Given the description of an element on the screen output the (x, y) to click on. 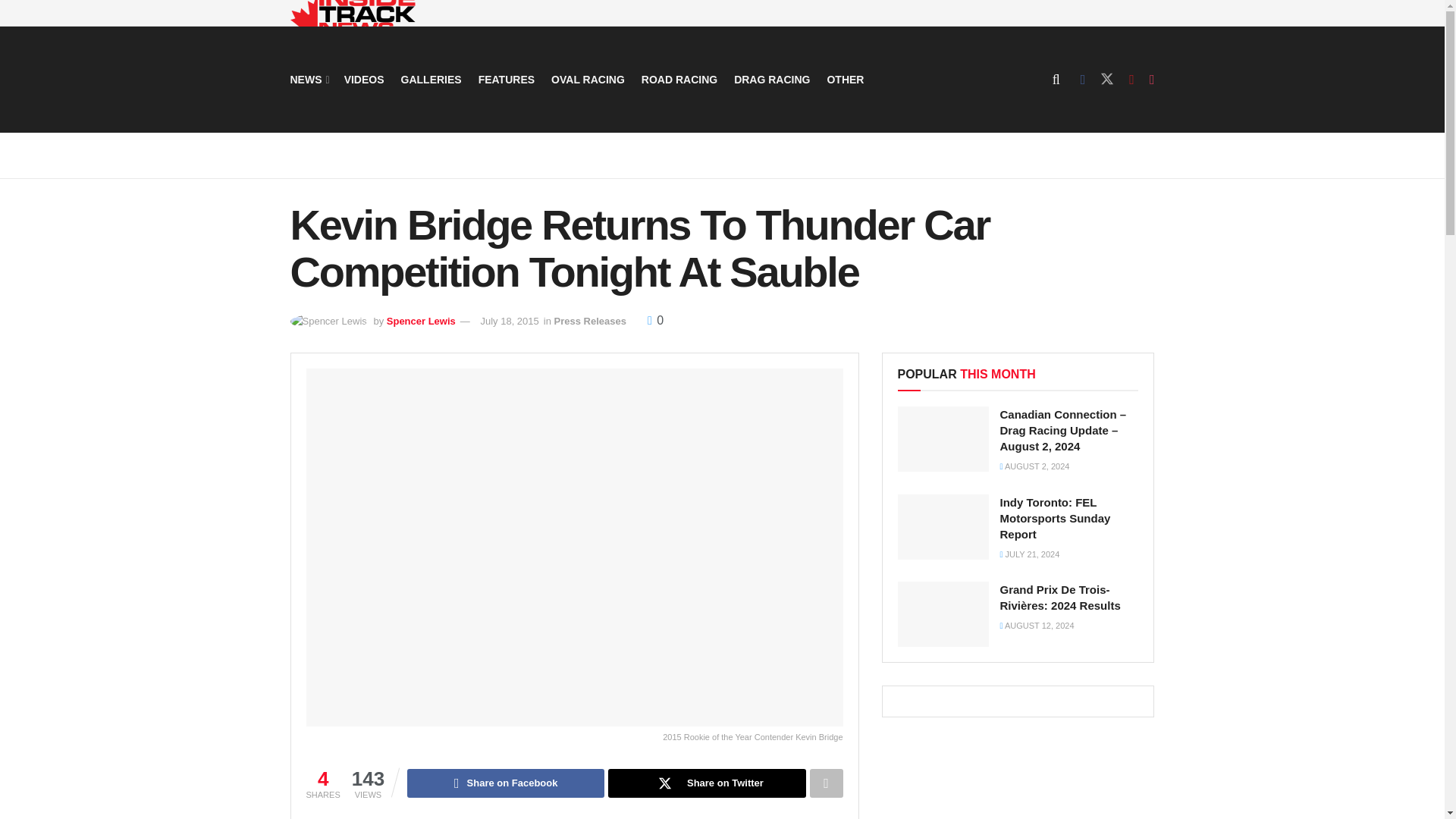
ROAD RACING (679, 79)
GALLERIES (431, 79)
DRAG RACING (771, 79)
FEATURES (506, 79)
OVAL RACING (587, 79)
NEWS (307, 79)
OTHER (845, 79)
VIDEOS (363, 79)
